Given the description of an element on the screen output the (x, y) to click on. 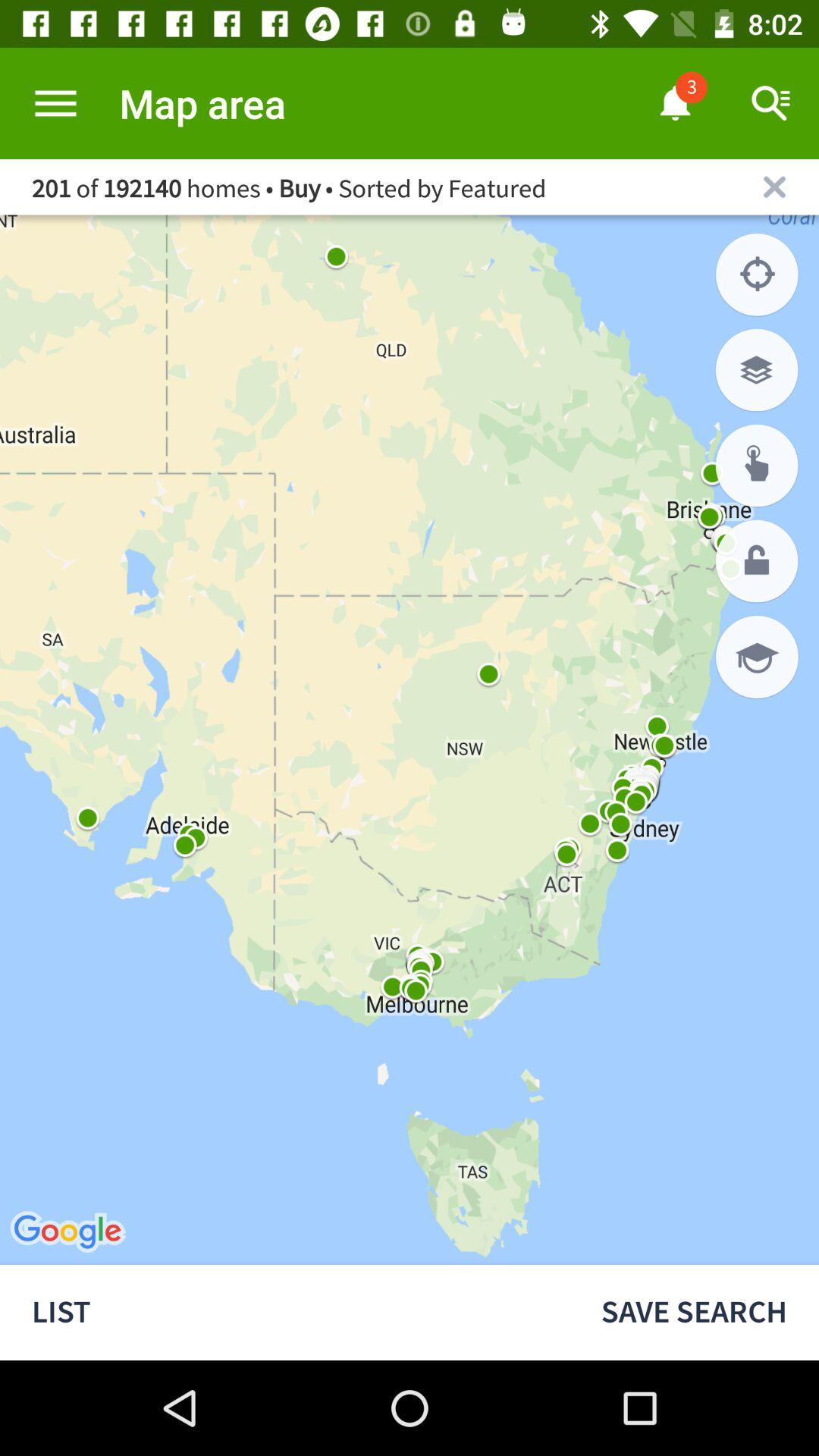
open list icon (284, 1312)
